Given the description of an element on the screen output the (x, y) to click on. 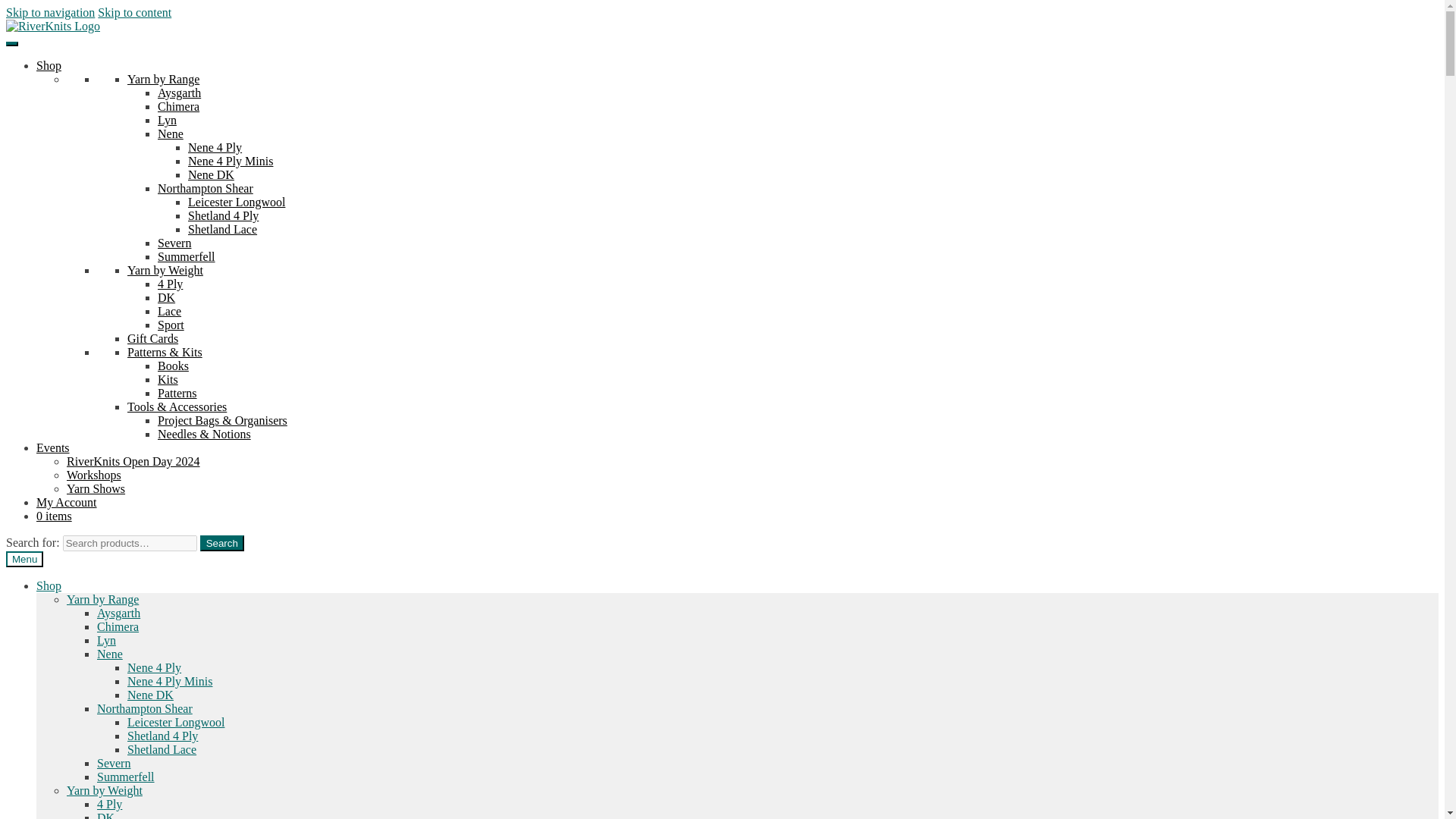
Start shopping (53, 515)
Summerfell (186, 256)
Skip to content (134, 11)
Nene (170, 133)
Northampton Shear (205, 187)
0 items (53, 515)
Nene 4 Ply (214, 146)
Shetland Lace (222, 228)
Events (52, 447)
Patterns (176, 392)
